Given the description of an element on the screen output the (x, y) to click on. 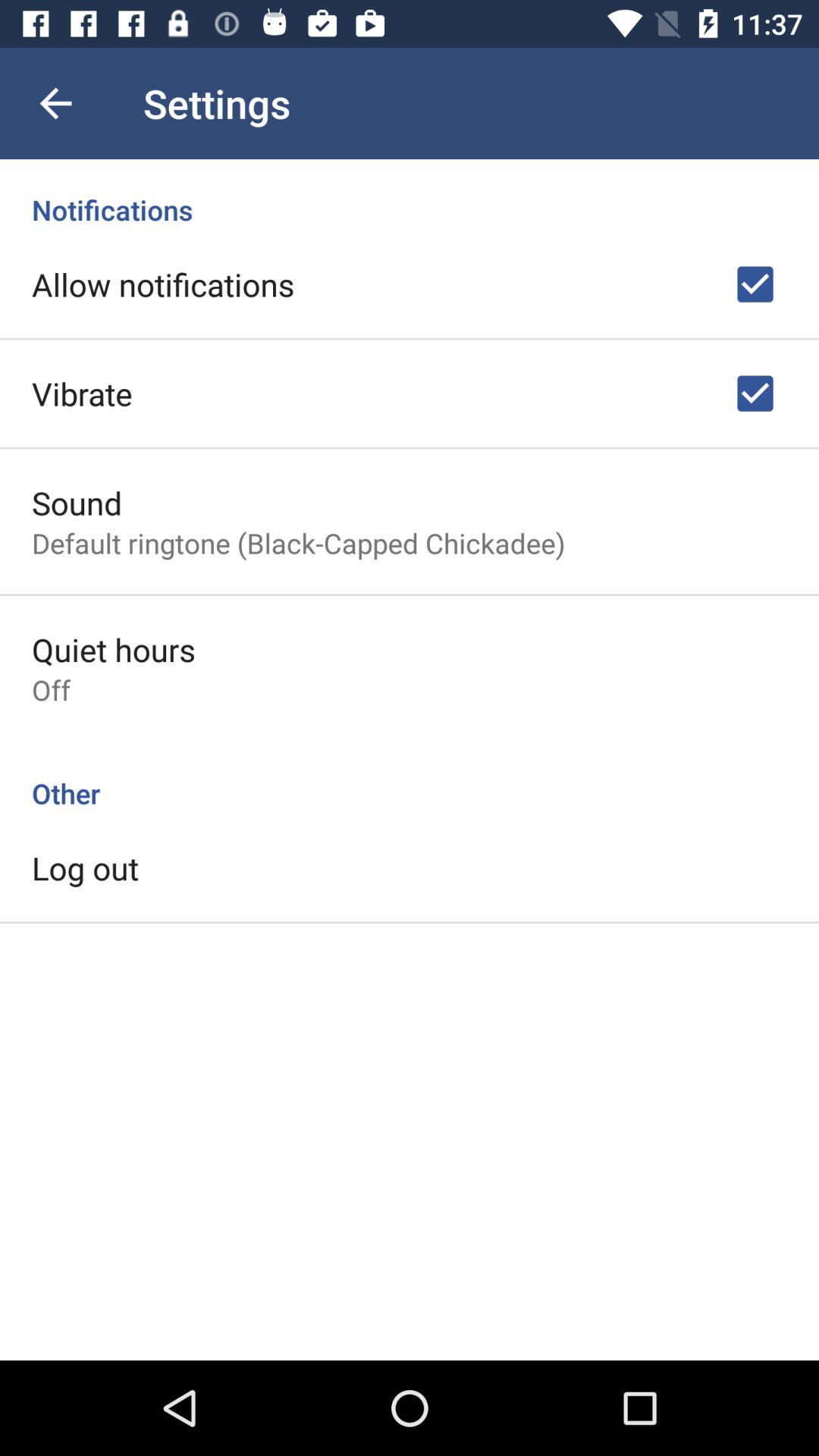
flip until vibrate item (81, 393)
